Given the description of an element on the screen output the (x, y) to click on. 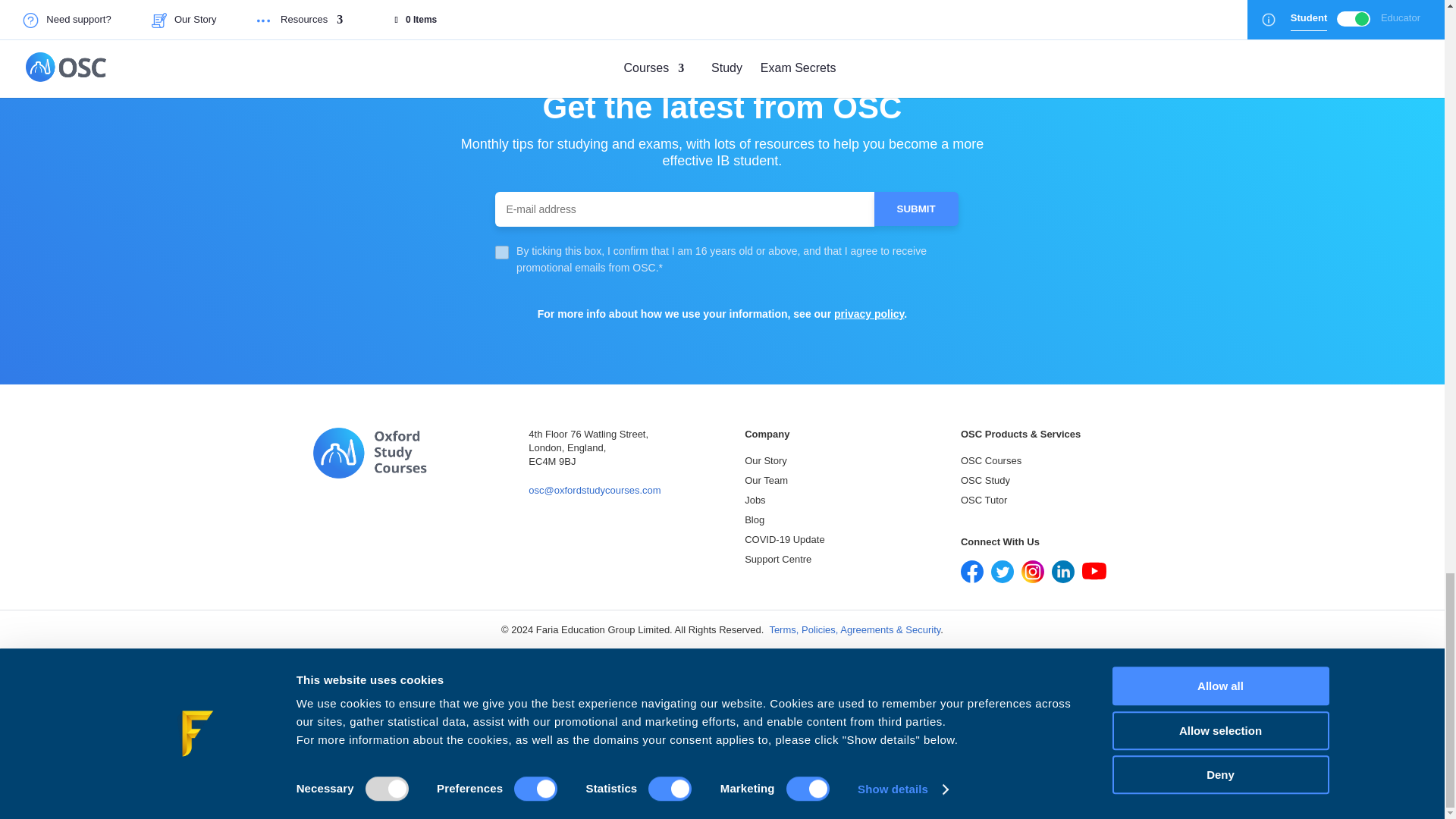
SUBMIT (915, 208)
true (501, 252)
